Given the description of an element on the screen output the (x, y) to click on. 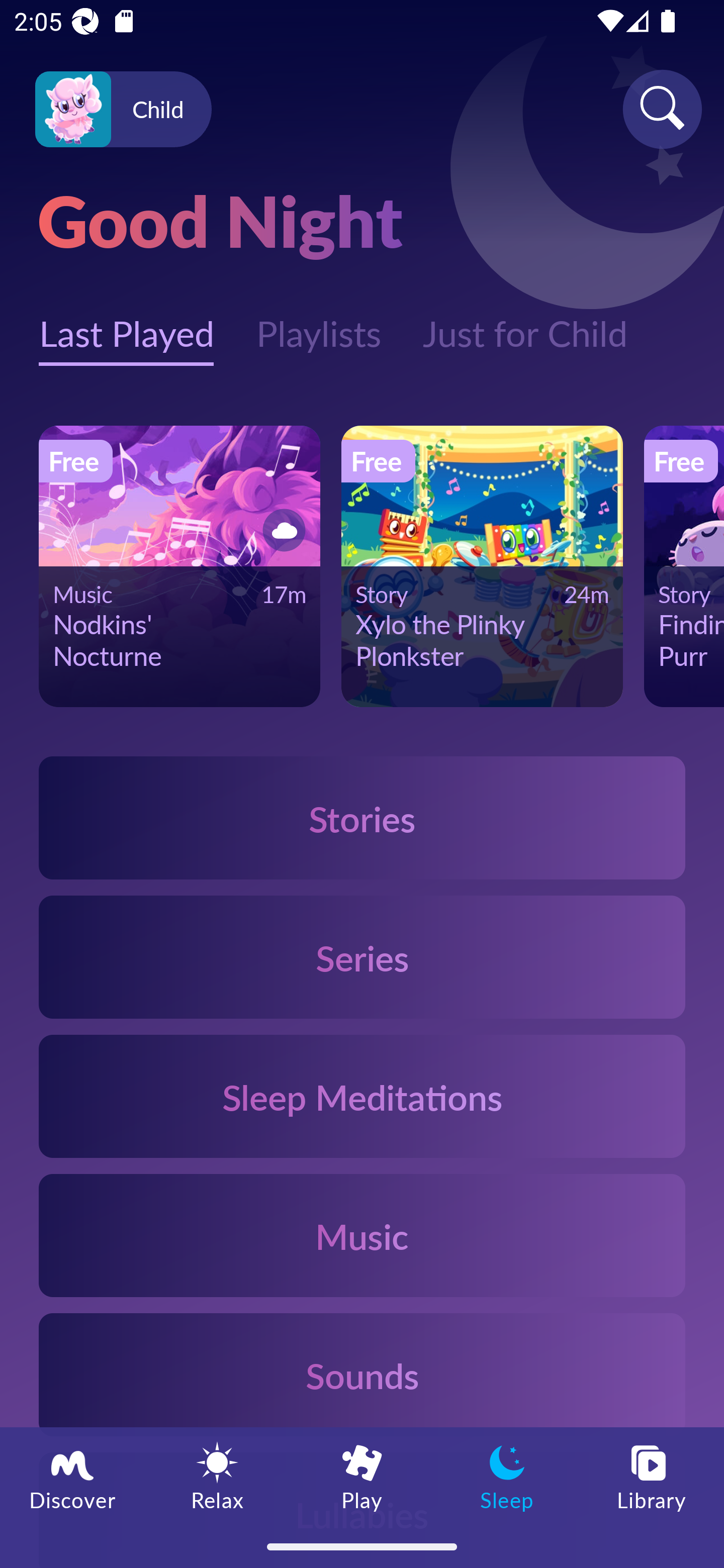
Profile icon Child (123, 109)
Playlists (317, 322)
Just for Child (524, 322)
Button (280, 529)
Stories (361, 817)
Series (361, 957)
Sleep Meditations (361, 1096)
Music (361, 1234)
Sounds (361, 1374)
Discover (72, 1475)
Relax (216, 1475)
Play (361, 1475)
Library (651, 1475)
